Given the description of an element on the screen output the (x, y) to click on. 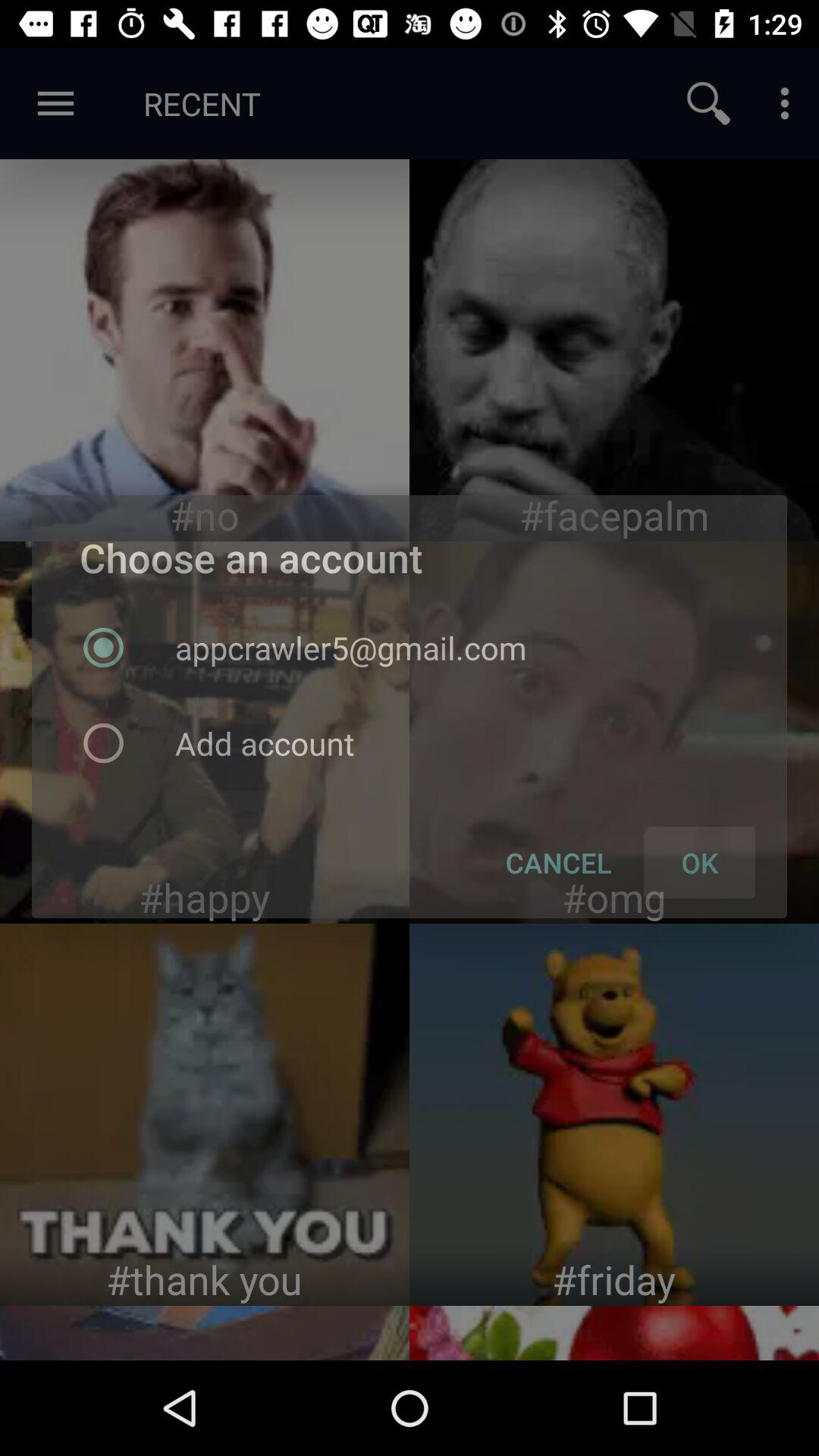
fruit image (614, 1332)
